Given the description of an element on the screen output the (x, y) to click on. 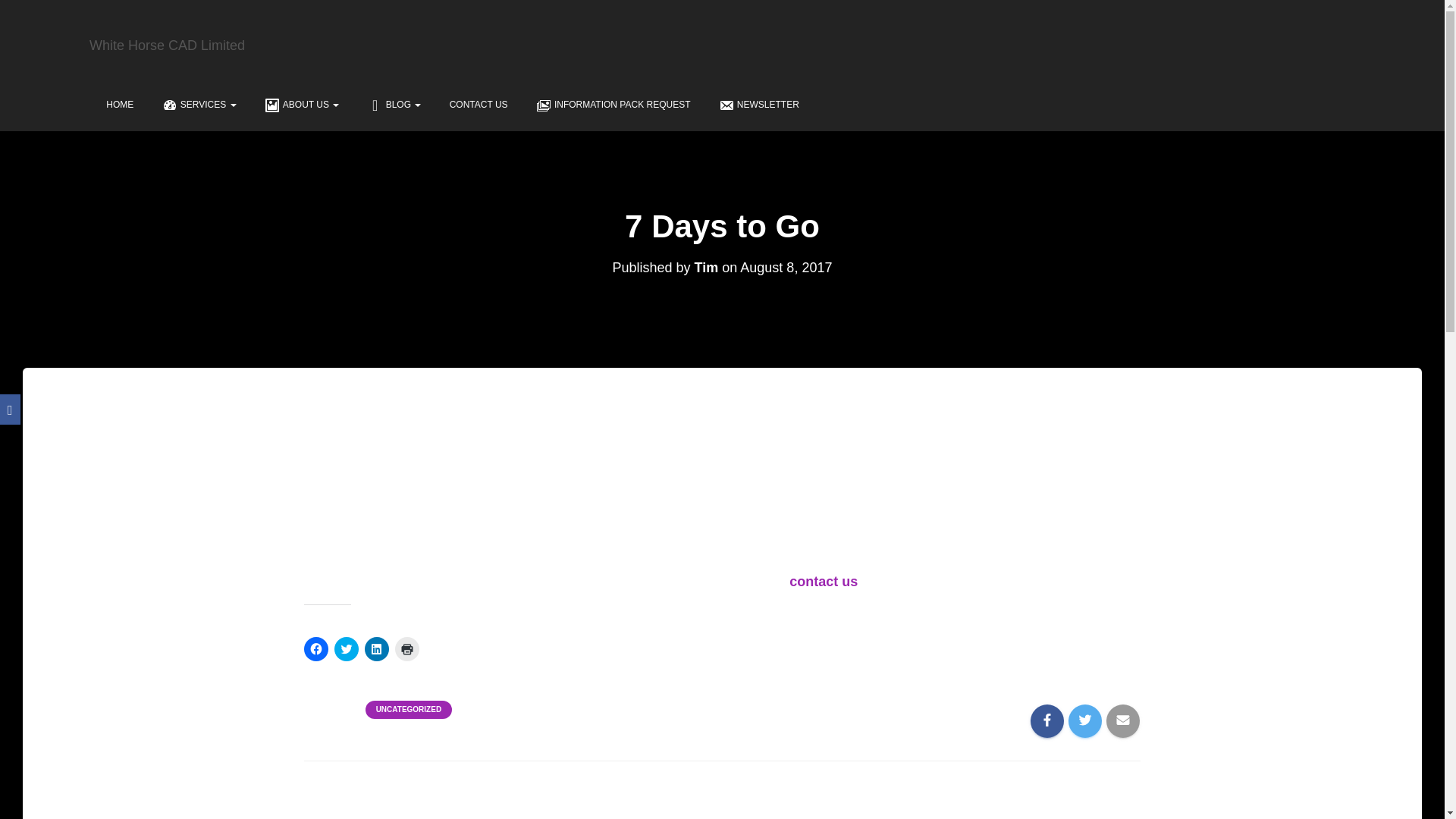
 INFORMATION PACK REQUEST (610, 103)
 NEWSLETTER (755, 103)
Tim (706, 267)
About White Horse CAD (298, 103)
 BLOG (391, 103)
 HOME (116, 103)
White Horse CAD Limited (167, 45)
 ABOUT US (298, 103)
White Horse CAD Home Page (116, 103)
White Horse CAD Limited (167, 45)
